Given the description of an element on the screen output the (x, y) to click on. 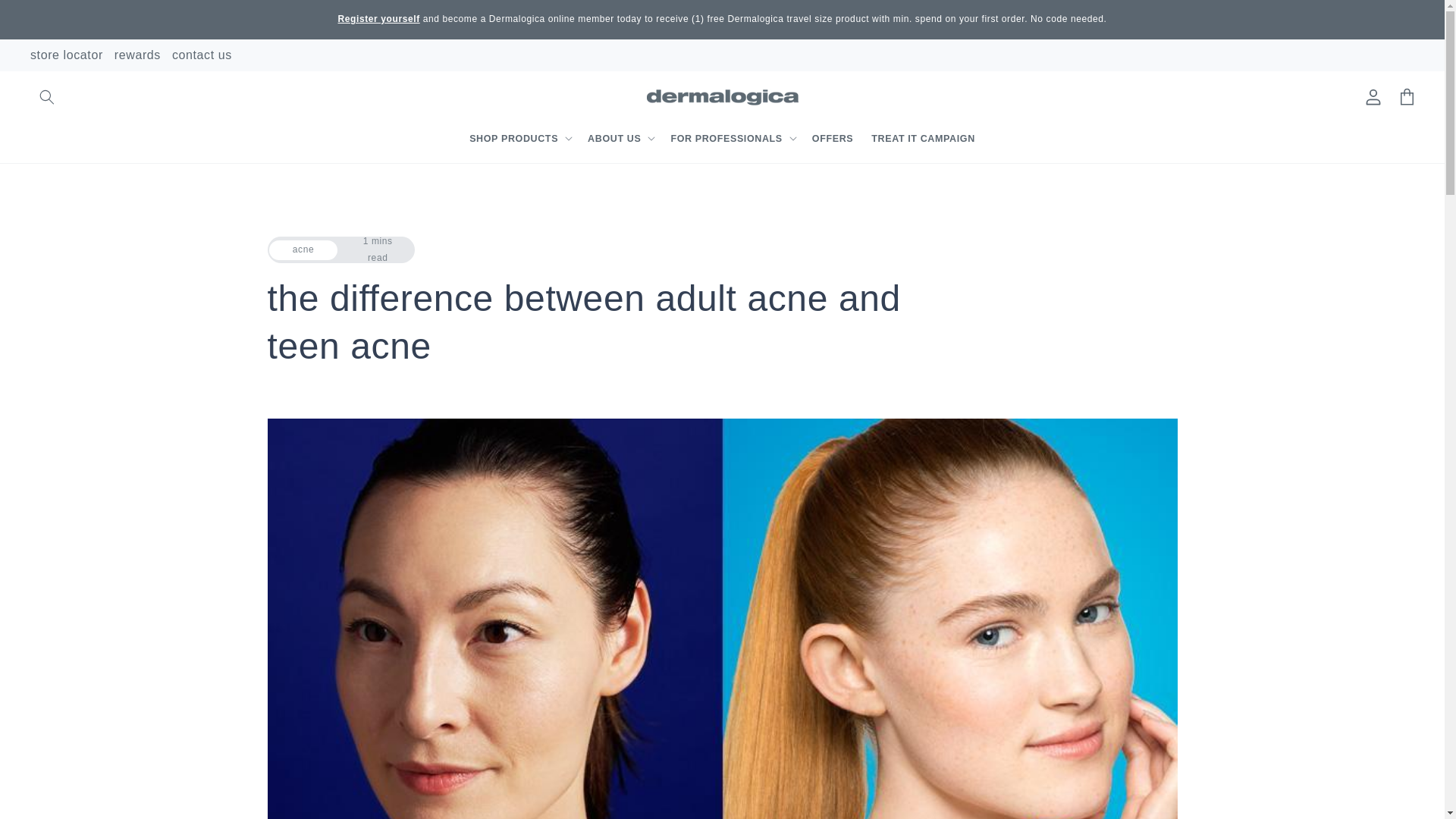
Register yourself (378, 18)
contact us (201, 55)
store locator (66, 55)
Skip to content (45, 17)
rewards (137, 55)
